Given the description of an element on the screen output the (x, y) to click on. 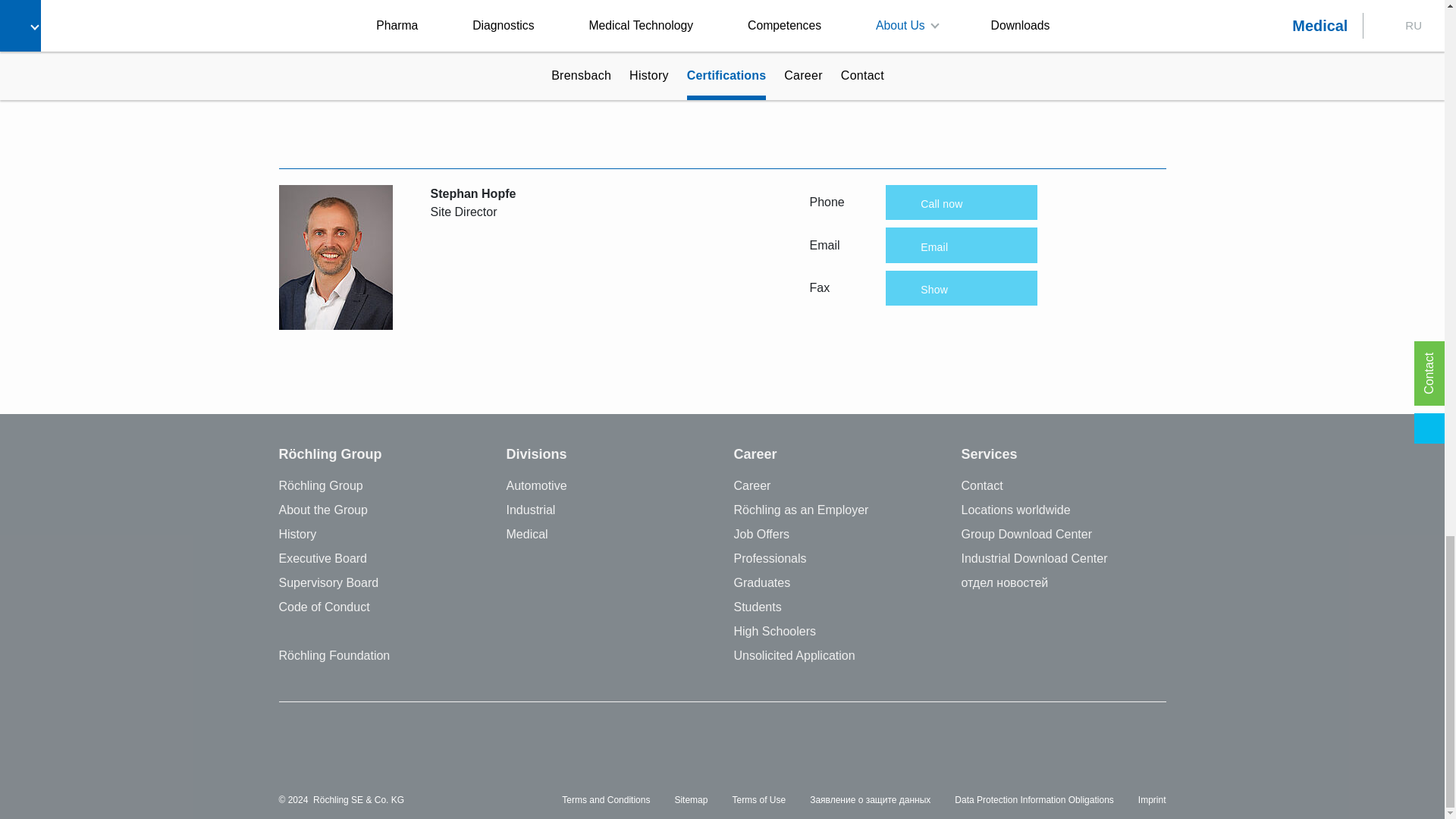
Email (960, 3)
